Given the description of an element on the screen output the (x, y) to click on. 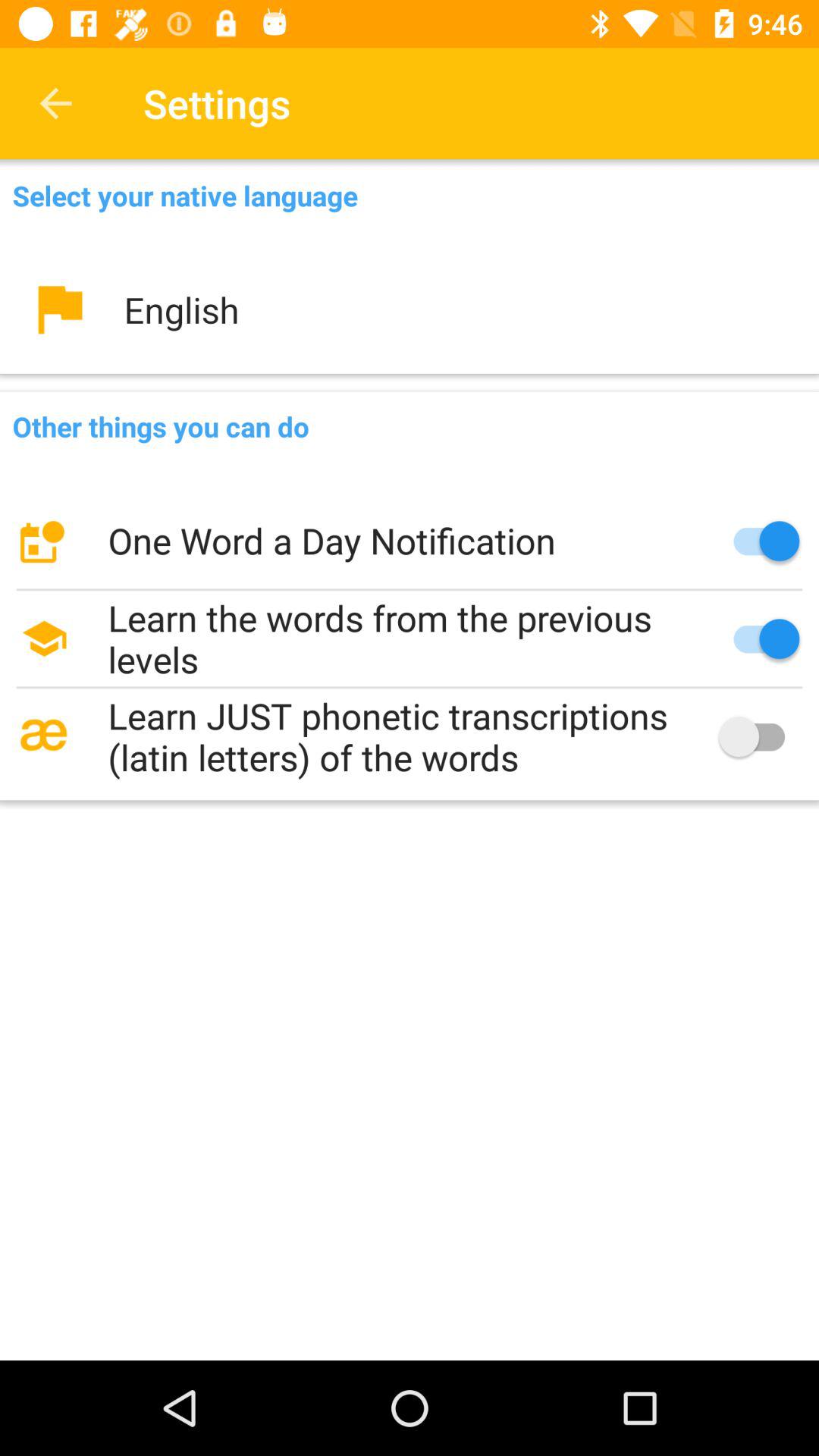
launch the item above other things you icon (409, 309)
